Given the description of an element on the screen output the (x, y) to click on. 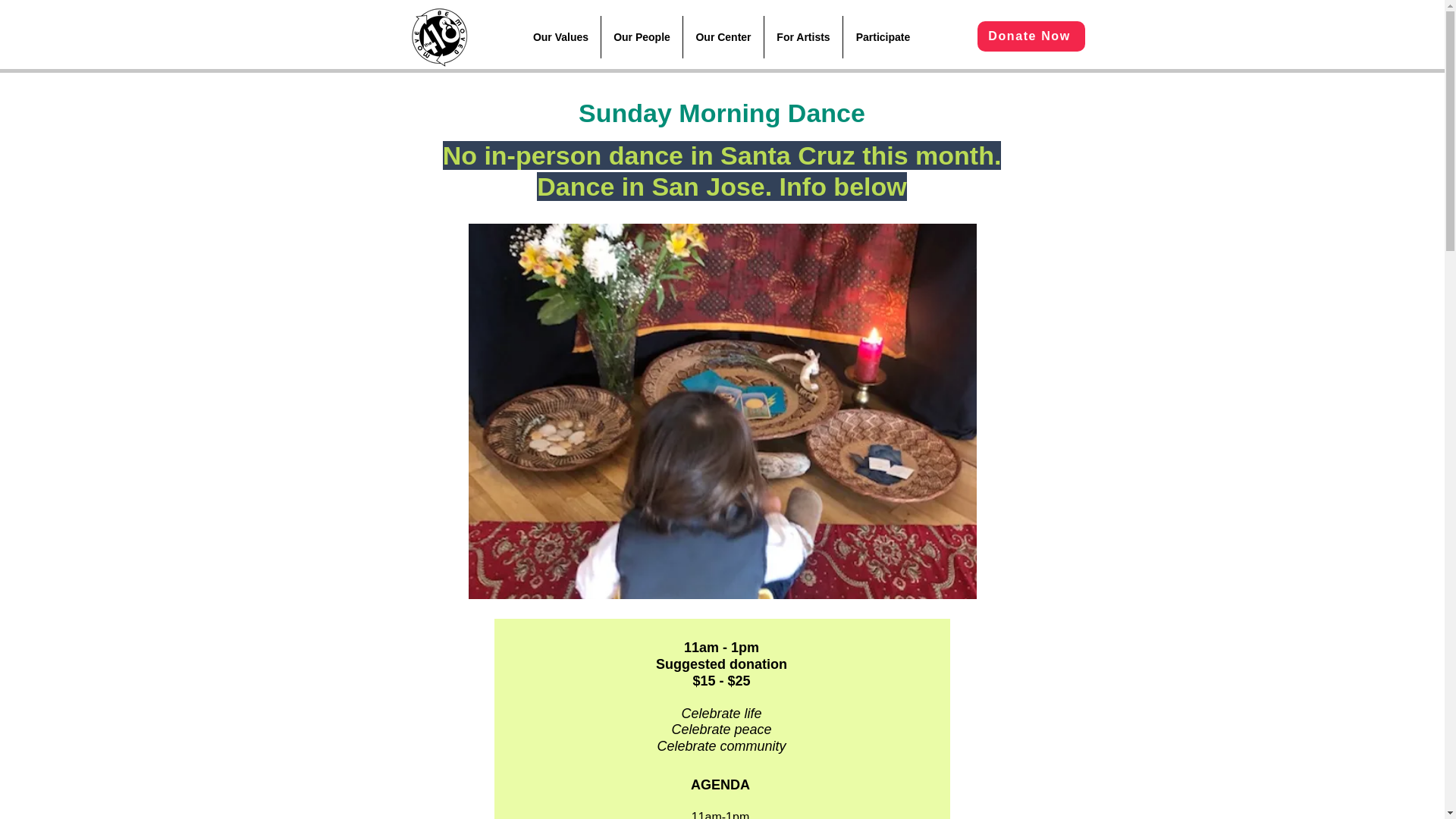
Our Values (560, 36)
Our People (641, 36)
Donate Now (1030, 36)
